Given the description of an element on the screen output the (x, y) to click on. 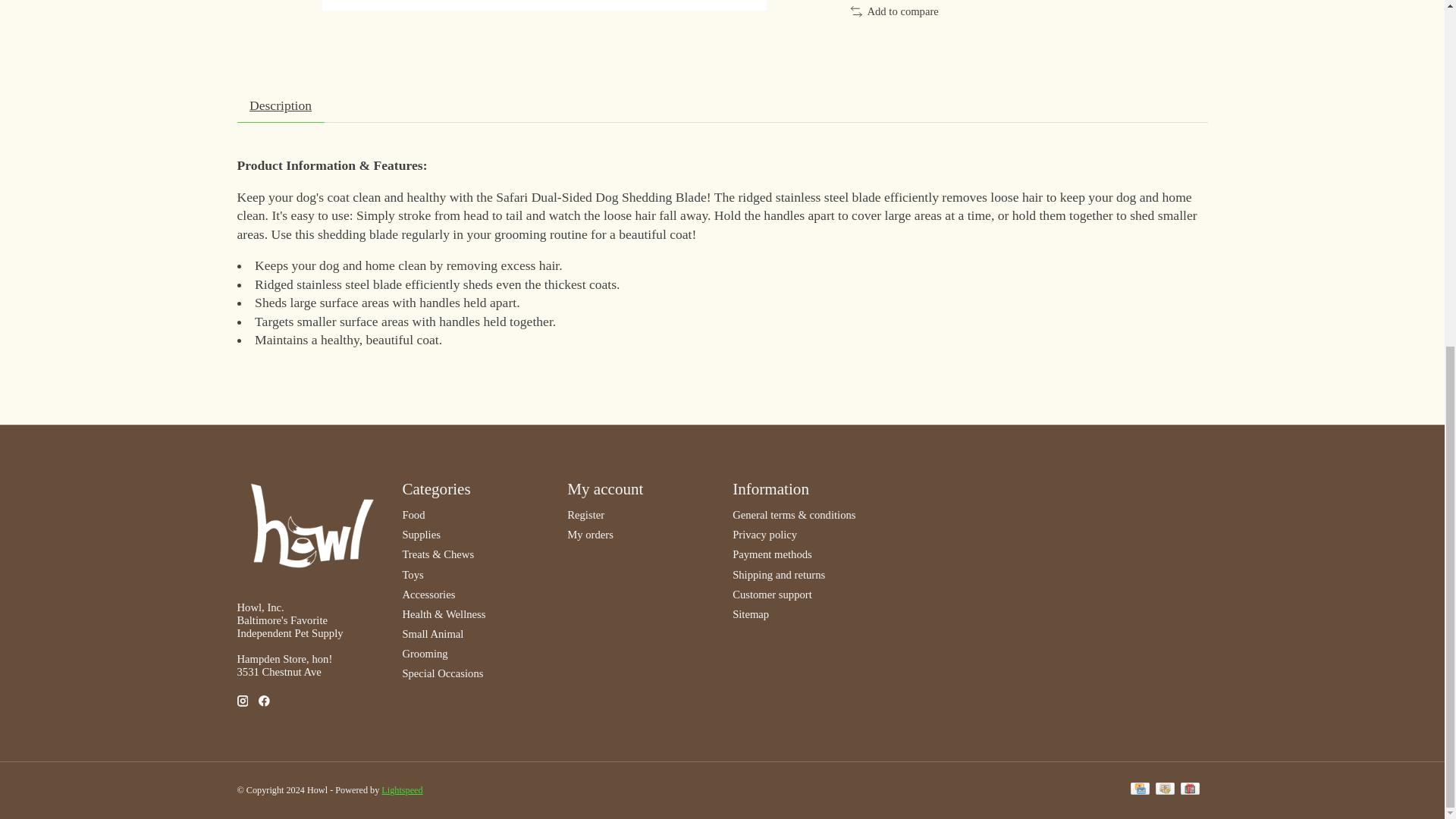
Sitemap (750, 613)
Lightspeed (401, 789)
Cash (1165, 789)
Payment methods (772, 553)
Giftcard (1188, 789)
Credit Card (1140, 789)
Privacy policy (764, 534)
Shipping and returns (778, 574)
Customer support (772, 594)
My orders (589, 534)
